Given the description of an element on the screen output the (x, y) to click on. 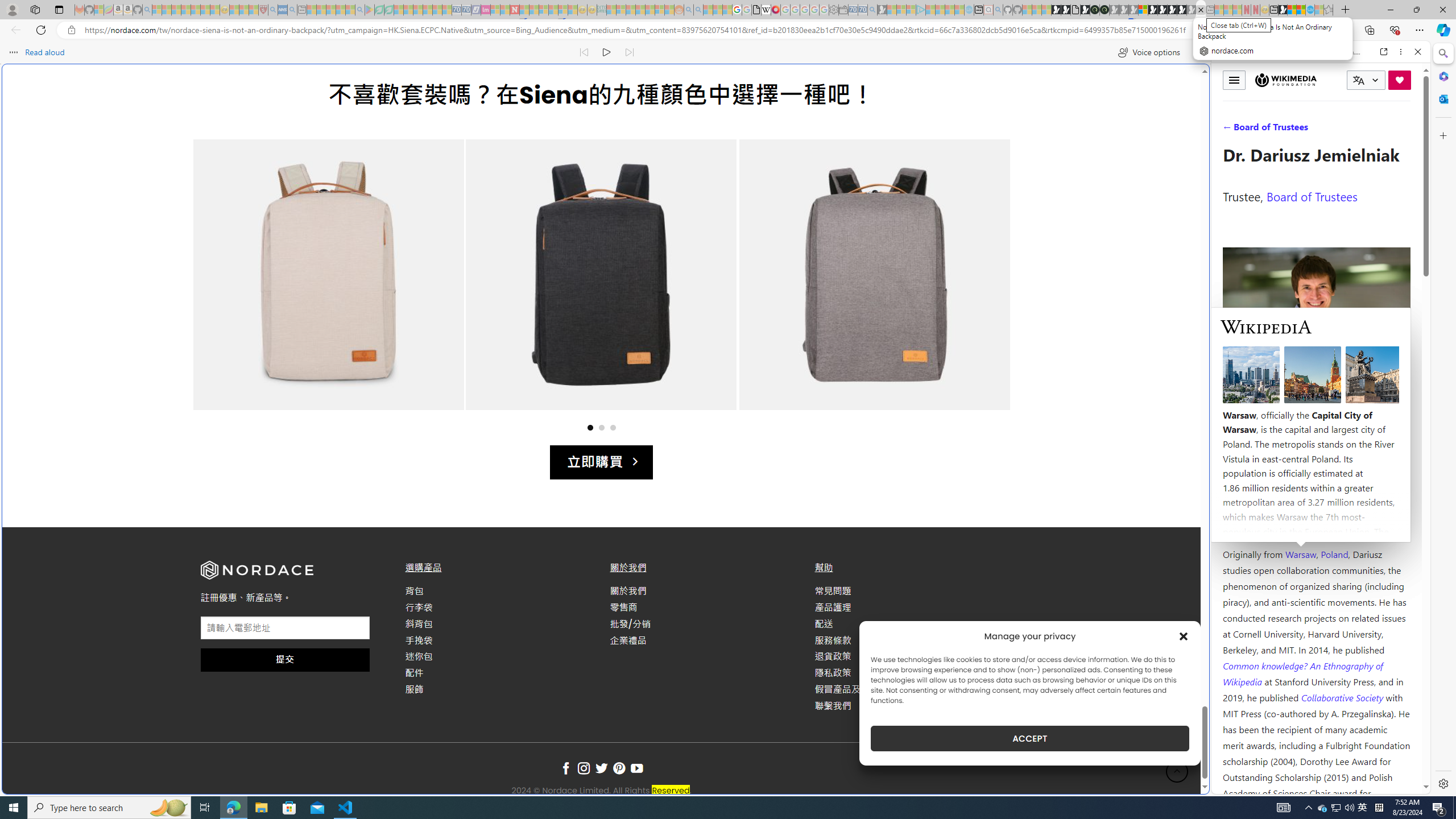
Page dot 2 (601, 427)
Donate now (1399, 80)
Wiktionary (1315, 380)
Kozminski University (1316, 486)
